Given the description of an element on the screen output the (x, y) to click on. 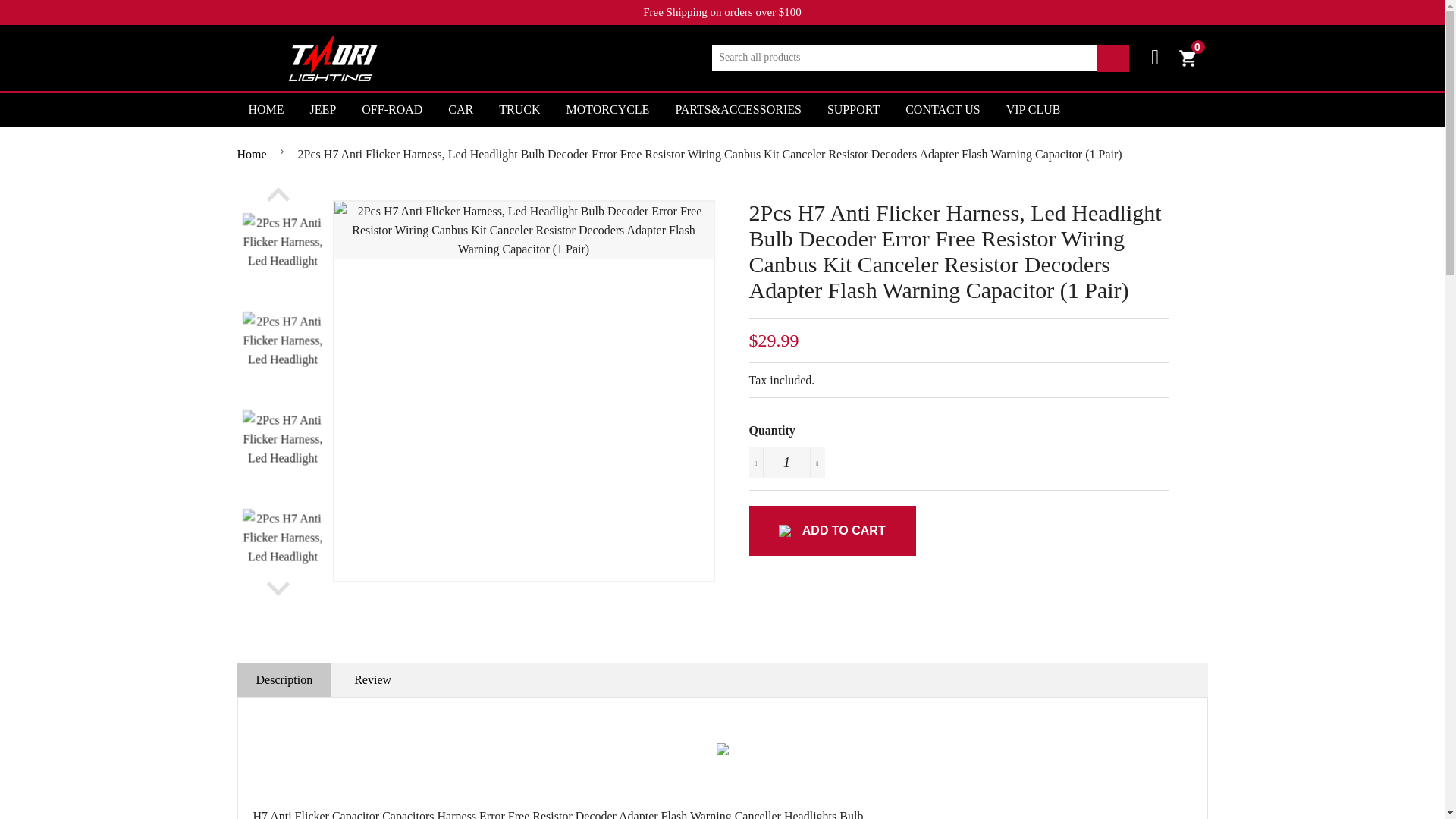
1 (787, 462)
Home (252, 153)
SEARCH (1113, 58)
JEEP (1186, 58)
OFF-ROAD (322, 109)
HOME (391, 109)
